Given the description of an element on the screen output the (x, y) to click on. 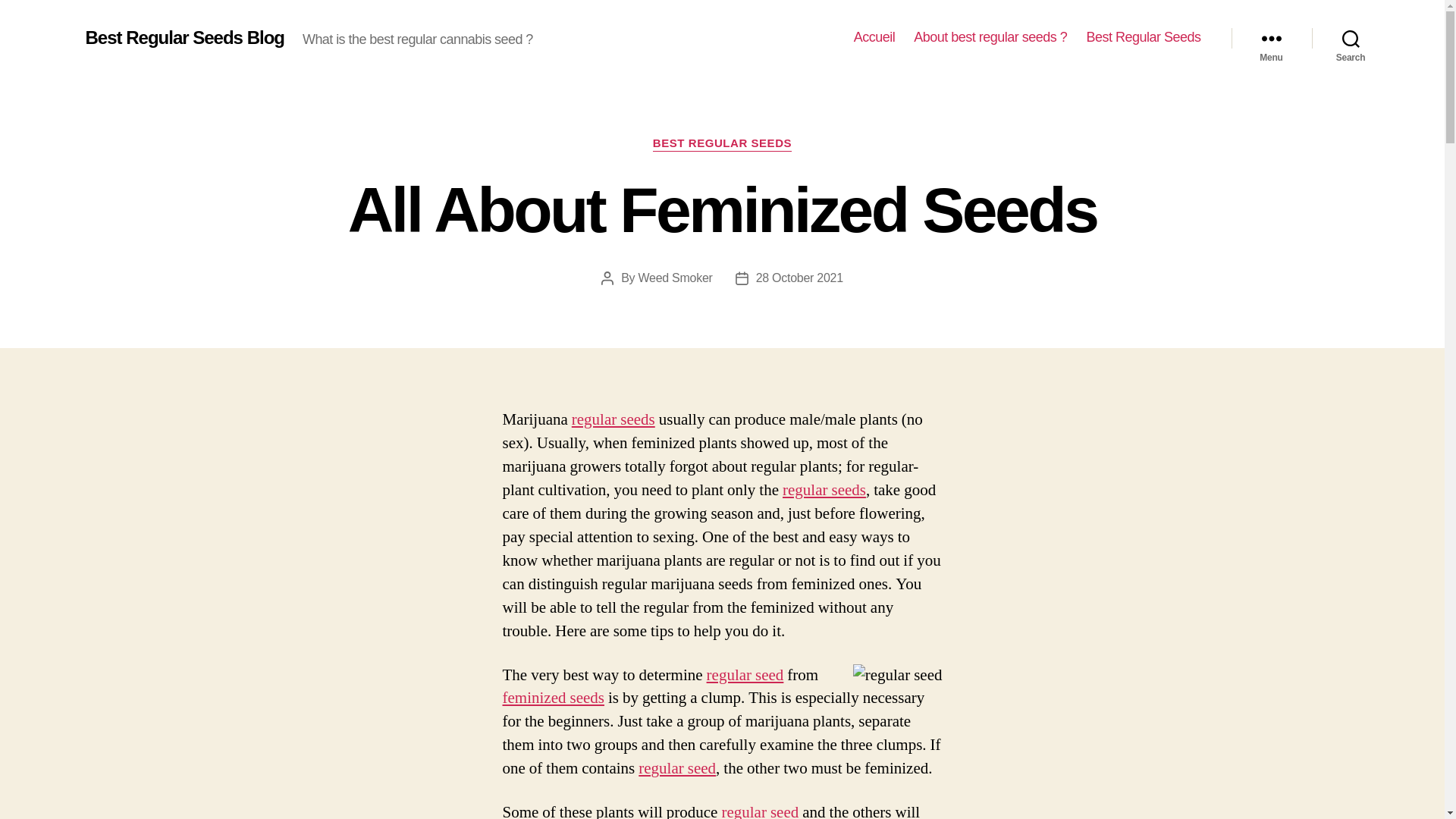
Weed Smoker (676, 277)
Best Regular Seeds Blog (183, 37)
Search (1350, 37)
regular seed (758, 810)
Best Regular Seeds (1142, 37)
regular seed (677, 768)
feminized seeds (553, 697)
28 October 2021 (799, 277)
Menu (1271, 37)
regular seeds (824, 489)
regular seeds (613, 419)
regular seed (745, 674)
Accueil (874, 37)
About best regular seeds ? (990, 37)
BEST REGULAR SEEDS (722, 143)
